Given the description of an element on the screen output the (x, y) to click on. 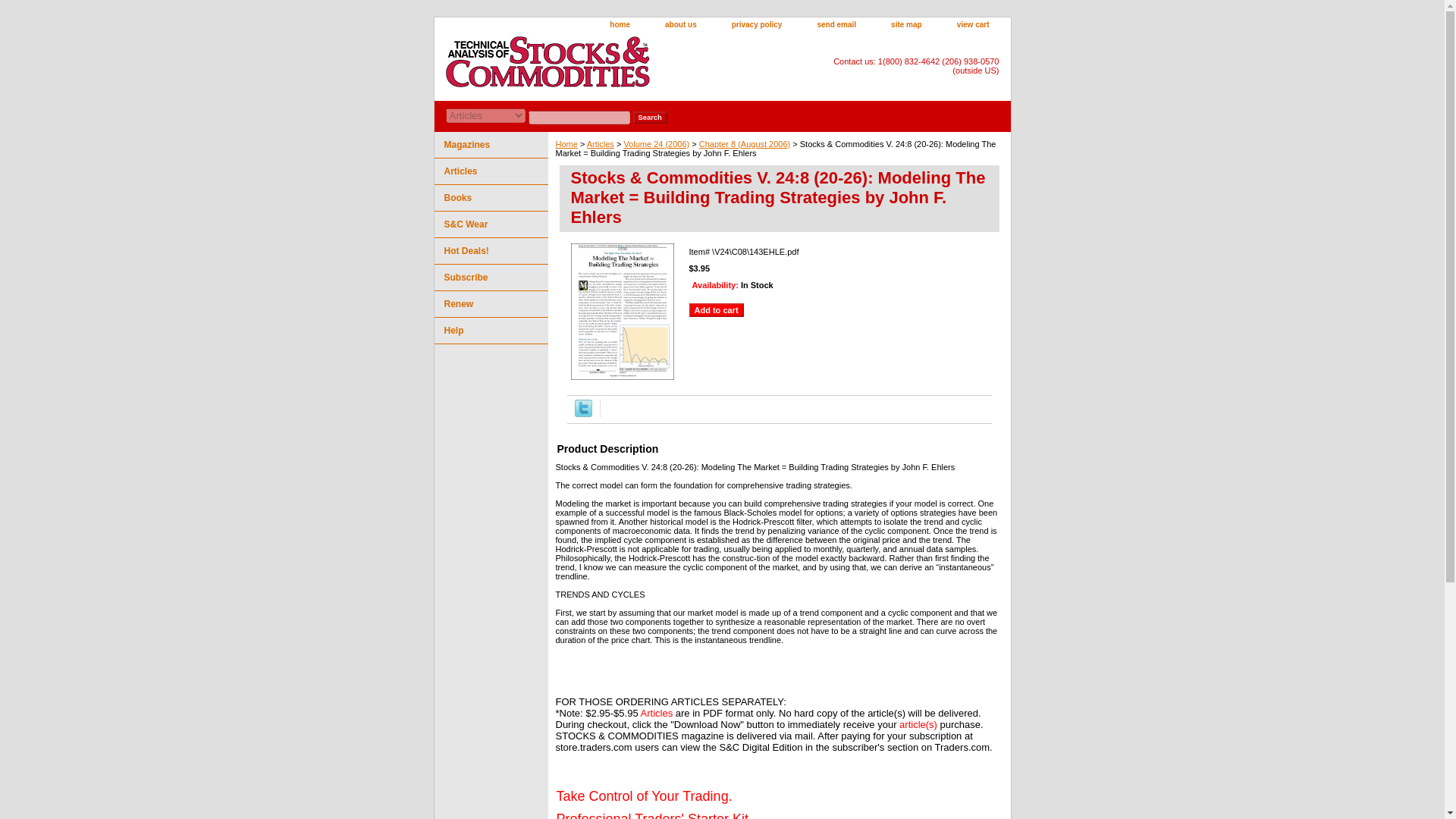
Renew (490, 304)
Articles (490, 171)
Renew (490, 304)
Hot Deals! (490, 251)
Add to cart (715, 309)
Hot Deals! (490, 251)
Help (490, 330)
Subscribe (490, 277)
about us (680, 25)
Search (648, 117)
Articles (490, 171)
privacy policy (756, 25)
Add to cart (715, 309)
Add to cart (715, 309)
home (619, 25)
